Given the description of an element on the screen output the (x, y) to click on. 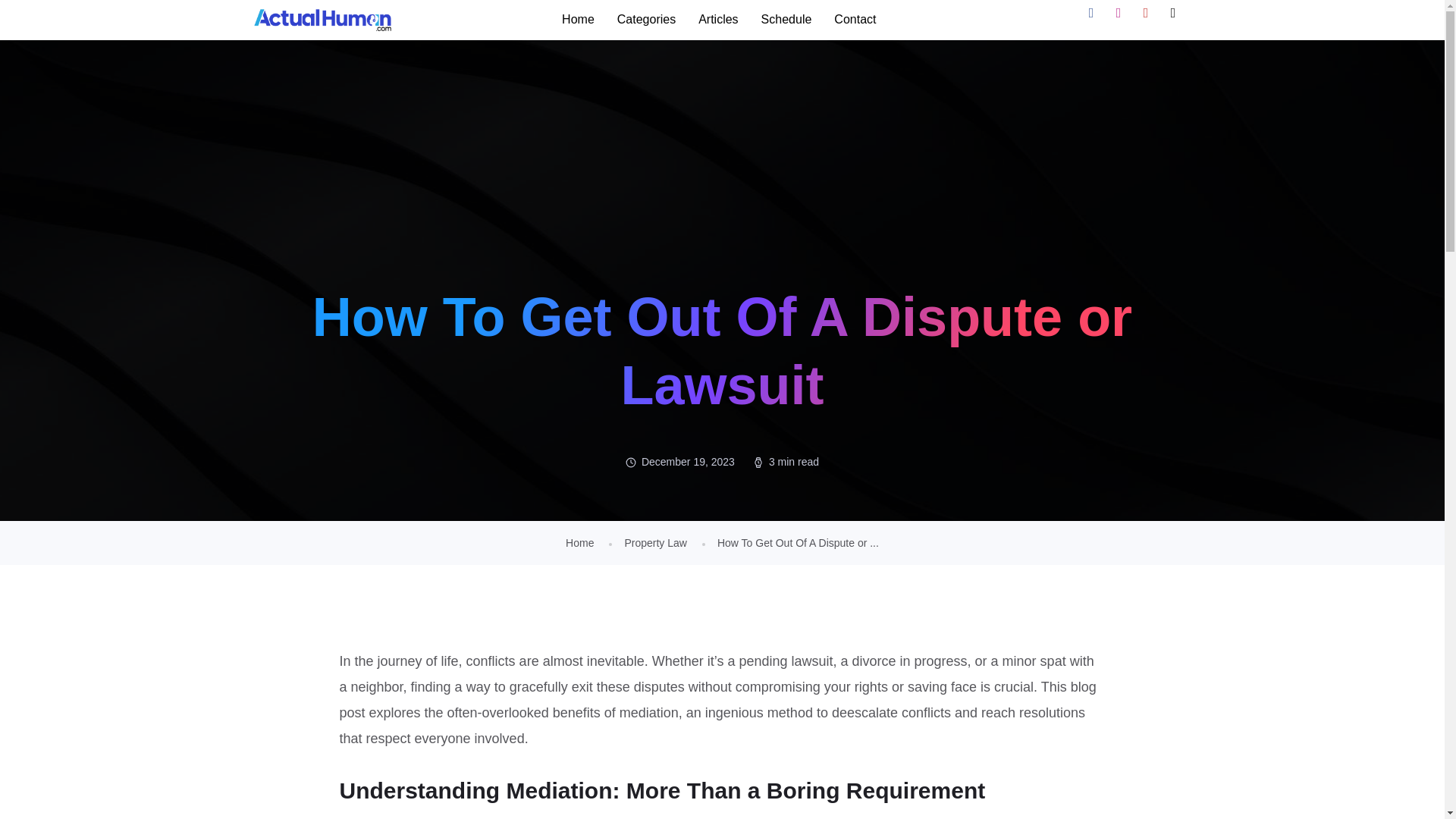
Articles (718, 19)
How To Get Out Of A Dispute or Lawsuit (798, 542)
Home (577, 19)
Schedule (786, 19)
Categories (646, 19)
Home (580, 542)
Home (580, 542)
Property Law (654, 542)
Contact (854, 19)
